Given the description of an element on the screen output the (x, y) to click on. 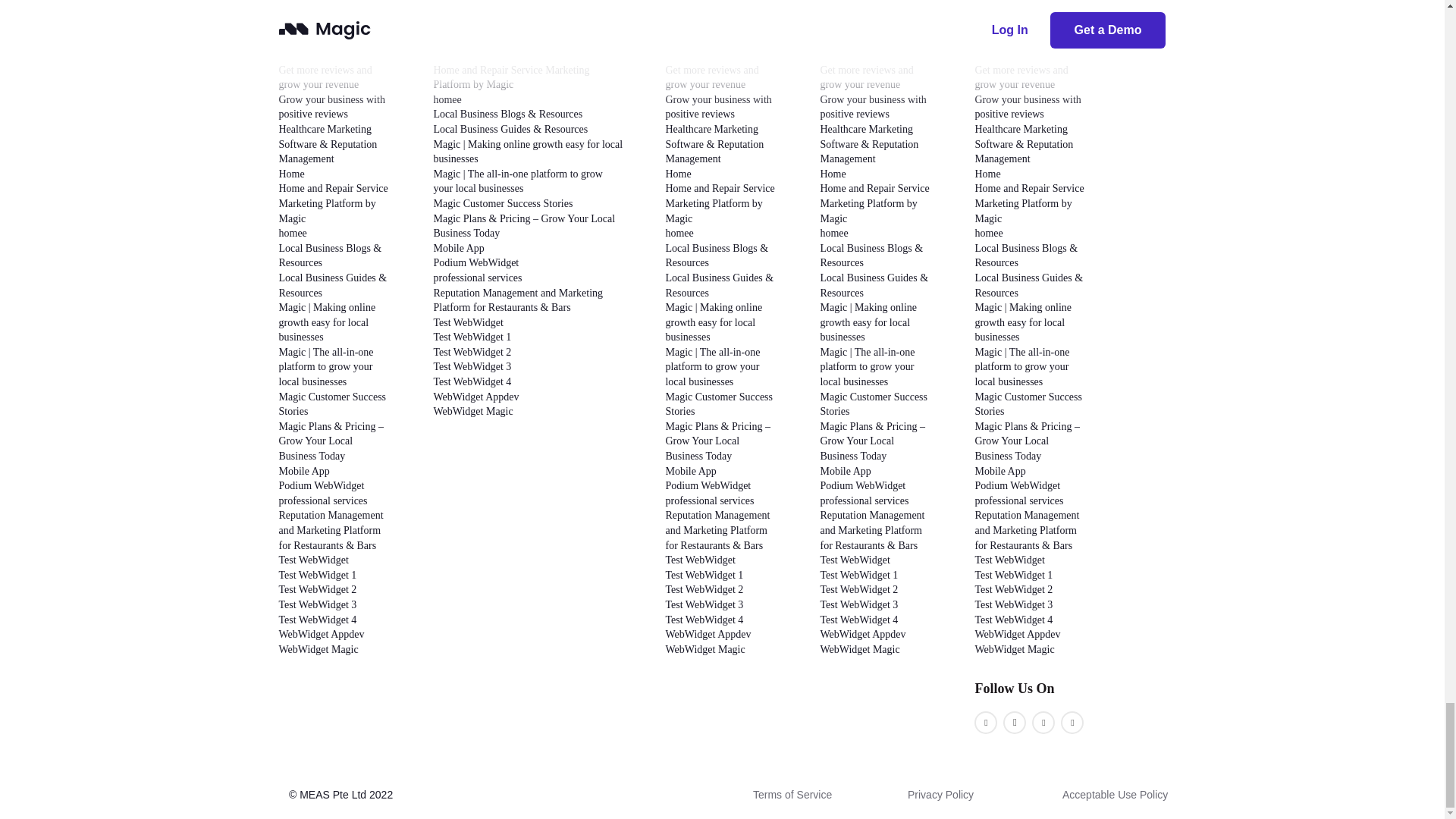
Instagram (1014, 722)
Facebook (985, 722)
YouTube (1043, 722)
LinkedIn (1072, 722)
